Given the description of an element on the screen output the (x, y) to click on. 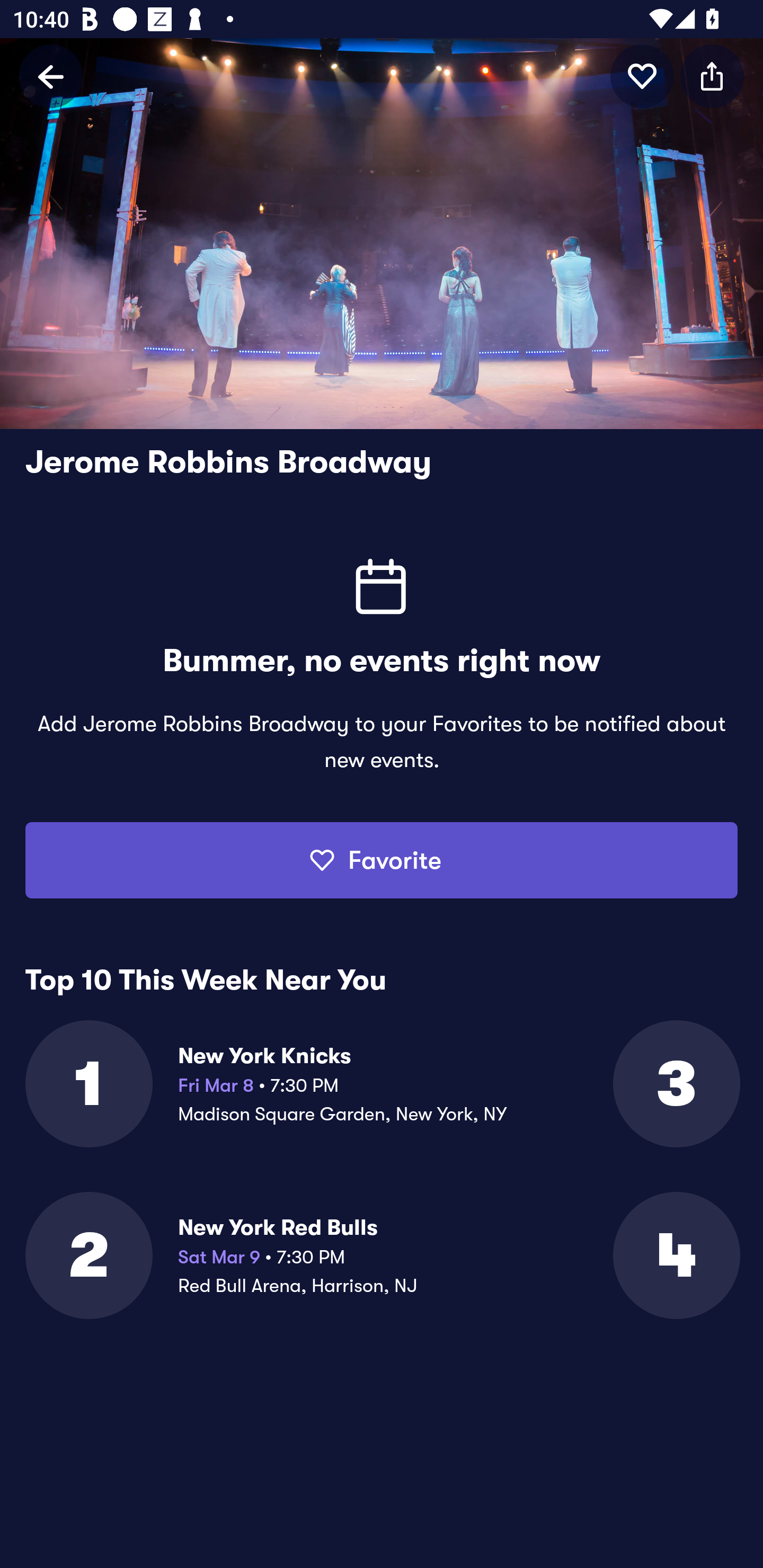
Back (50, 75)
icon button (641, 75)
icon button (711, 75)
Favorite (381, 859)
3 (675, 1083)
4 (675, 1254)
